Given the description of an element on the screen output the (x, y) to click on. 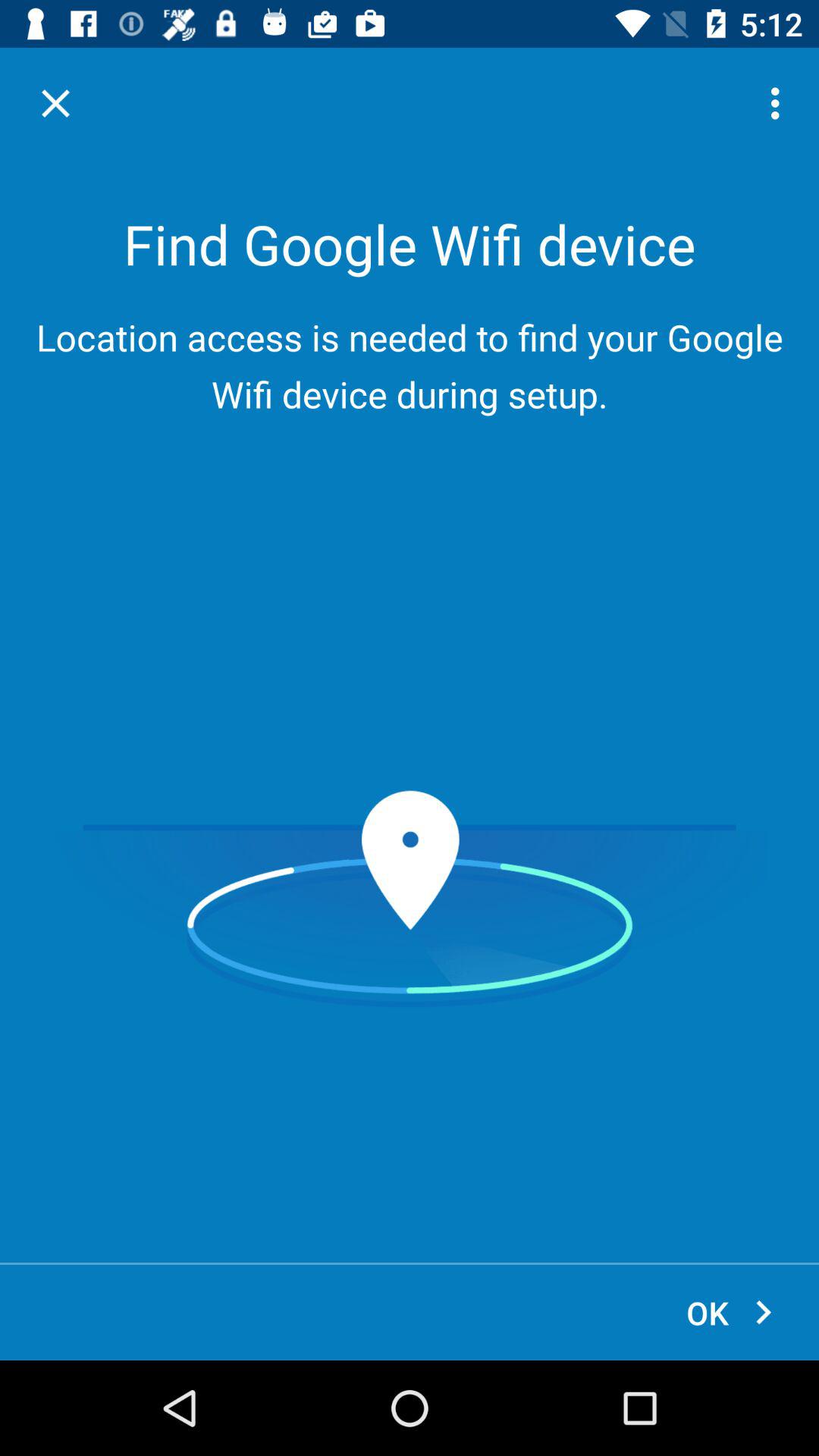
select icon at the bottom right corner (731, 1312)
